Given the description of an element on the screen output the (x, y) to click on. 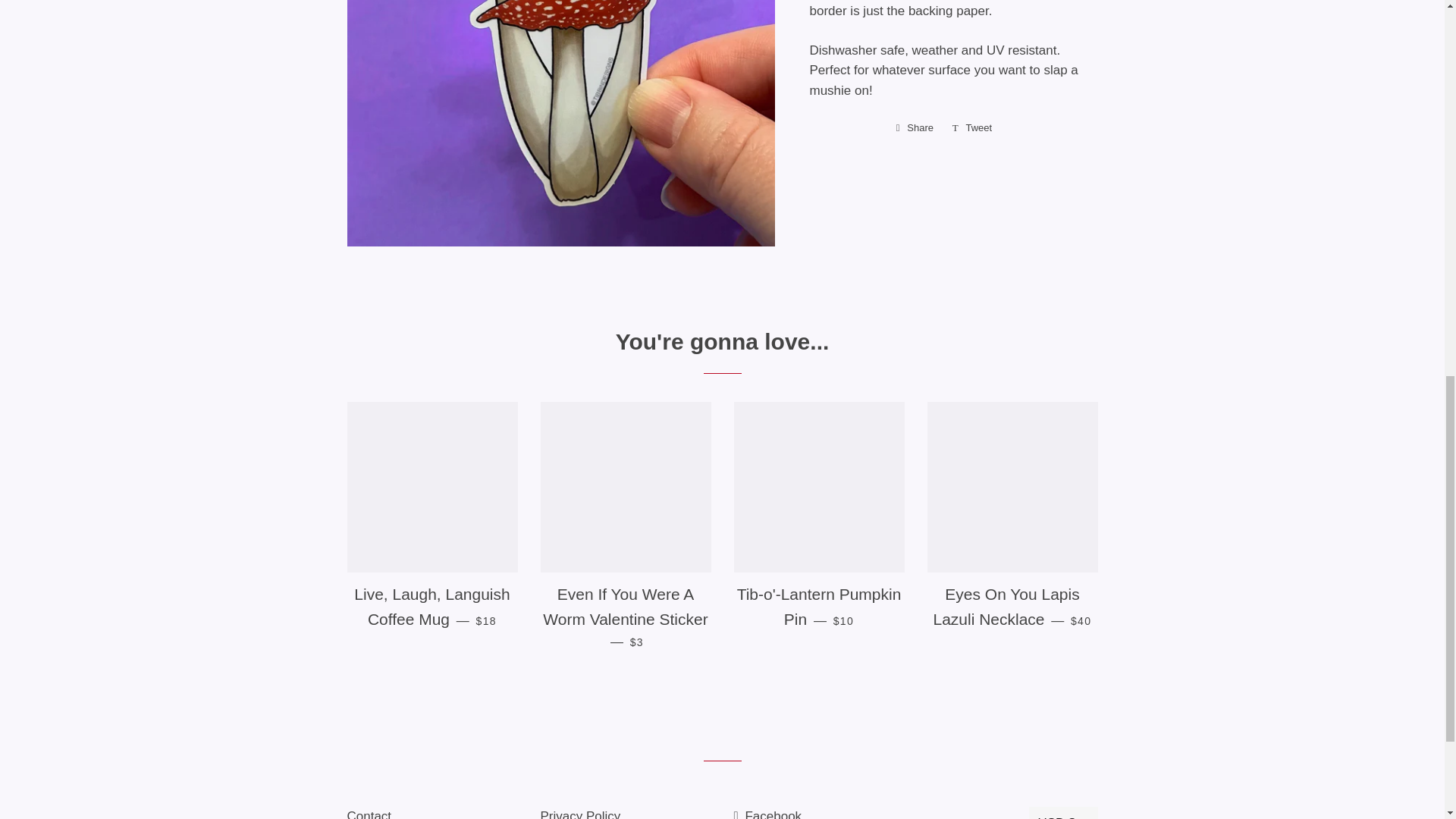
Tibbin Designs on Facebook (767, 814)
Share on Facebook (914, 128)
Tweet on Twitter (971, 128)
